Given the description of an element on the screen output the (x, y) to click on. 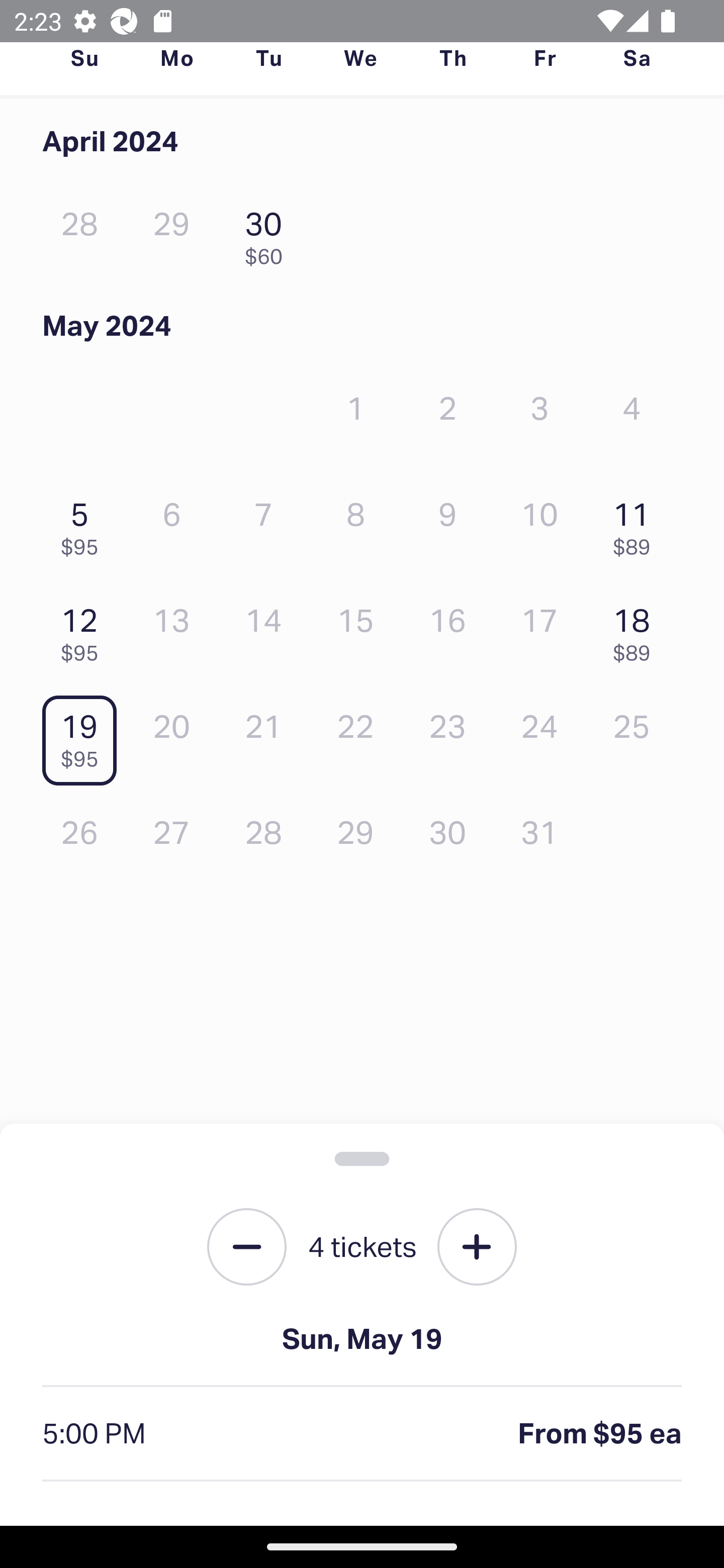
30 $60 (268, 232)
5 $95 (84, 524)
11 $89 (636, 524)
12 $95 (84, 629)
18 $89 (636, 629)
19 $95 (84, 735)
5:00 PM From $95 ea (361, 1434)
